Given the description of an element on the screen output the (x, y) to click on. 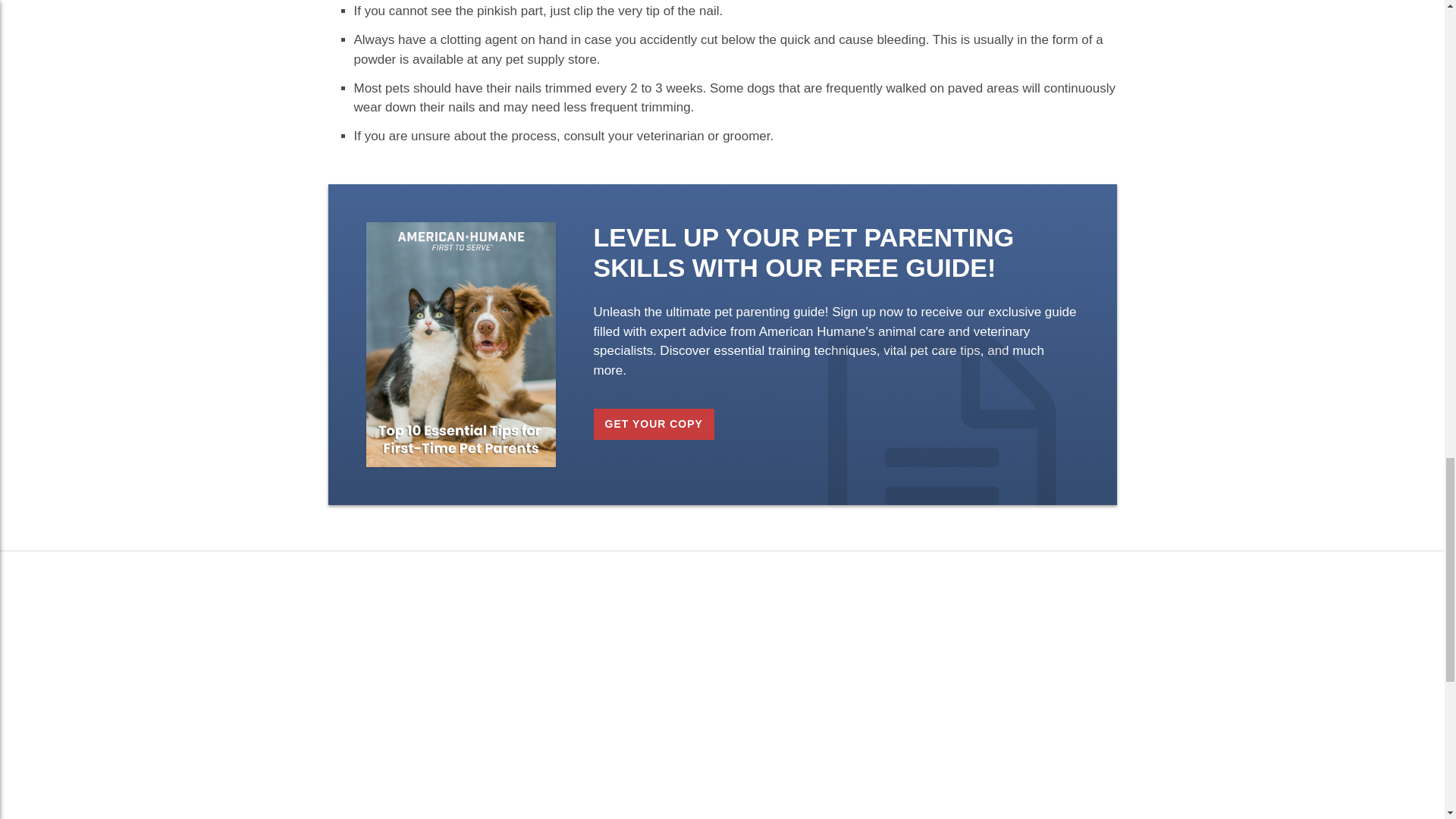
GET YOUR COPY (652, 423)
LEVEL UP YOUR PET PARENTING SKILLS WITH OUR FREE GUIDE! (802, 252)
